Given the description of an element on the screen output the (x, y) to click on. 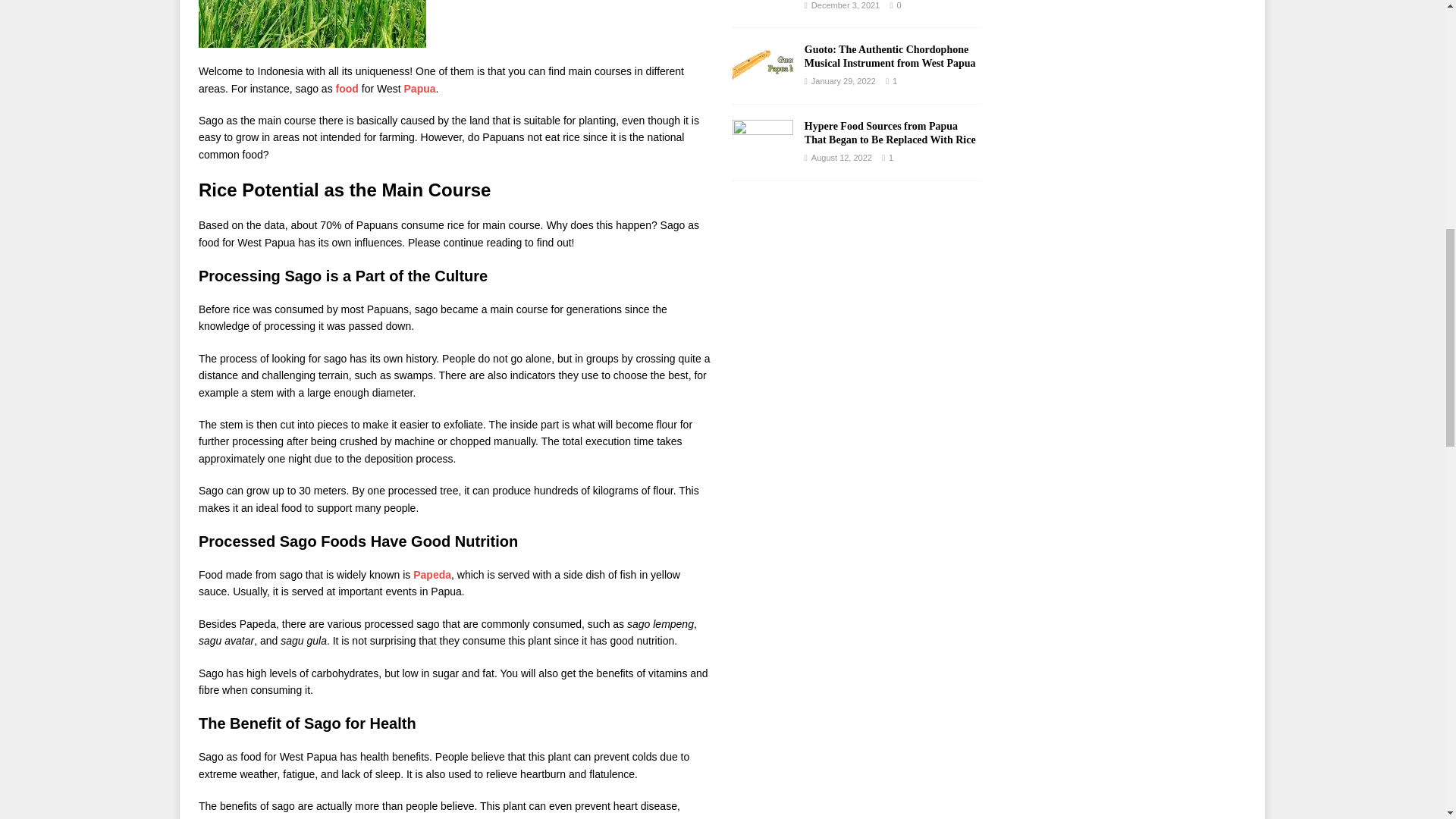
Papua (419, 88)
Papeda (432, 574)
food (347, 88)
